Given the description of an element on the screen output the (x, y) to click on. 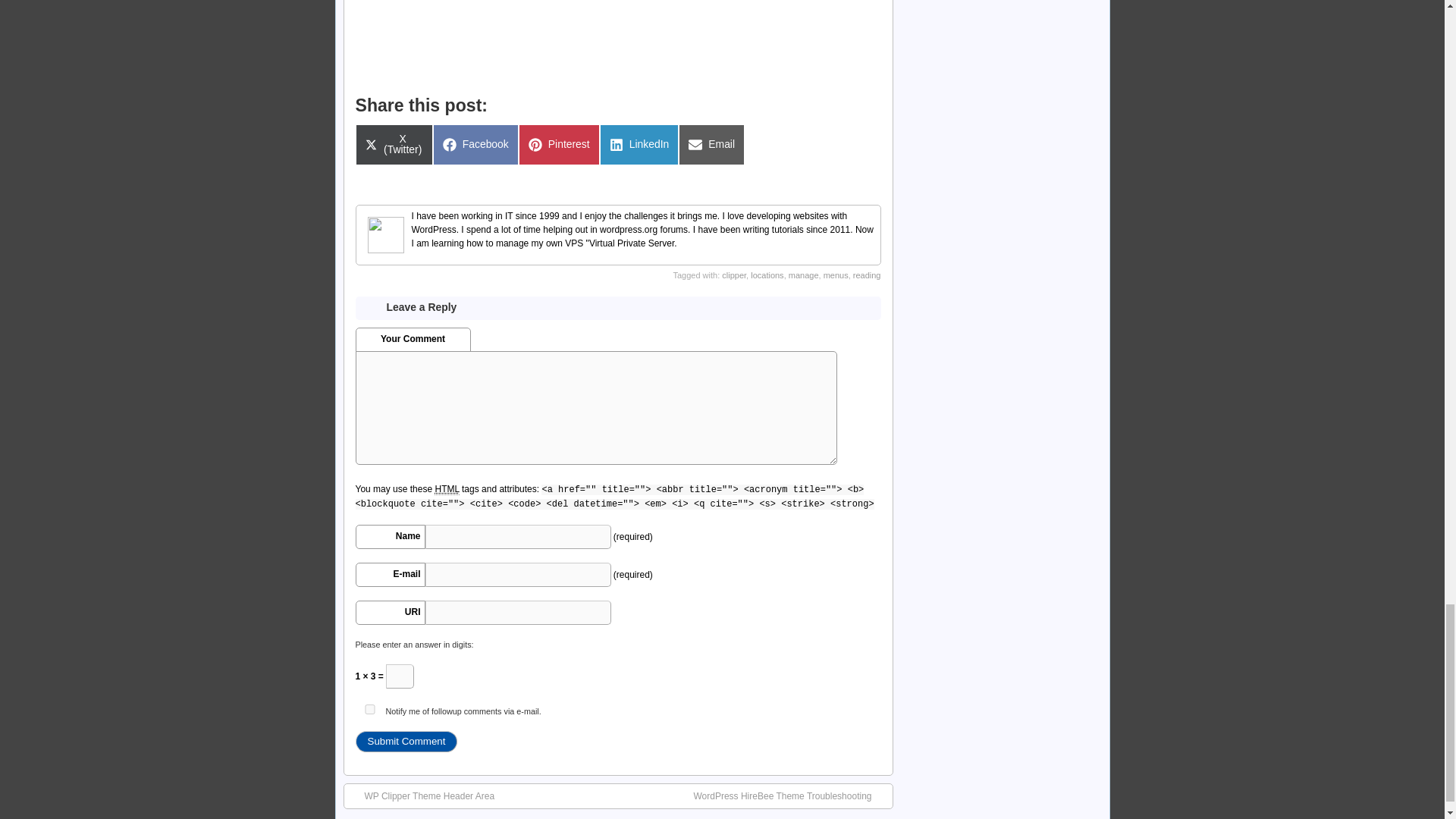
locations (767, 275)
Submit Comment (711, 144)
menus (406, 741)
yes (836, 275)
reading (639, 144)
  WordPress HireBee Theme Troubleshooting (369, 709)
Submit Comment (866, 275)
